Given the description of an element on the screen output the (x, y) to click on. 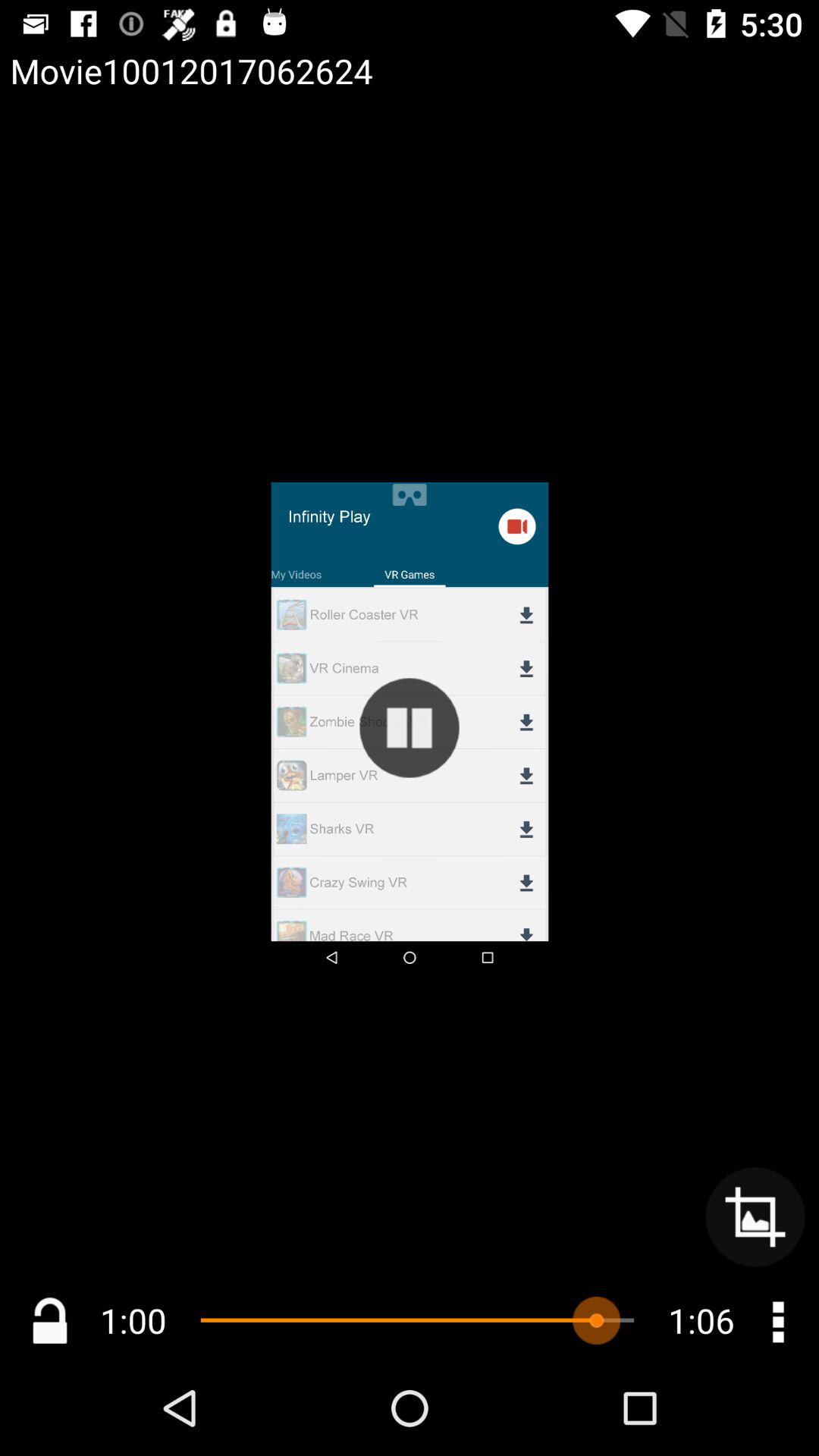
lock option (49, 1320)
